Given the description of an element on the screen output the (x, y) to click on. 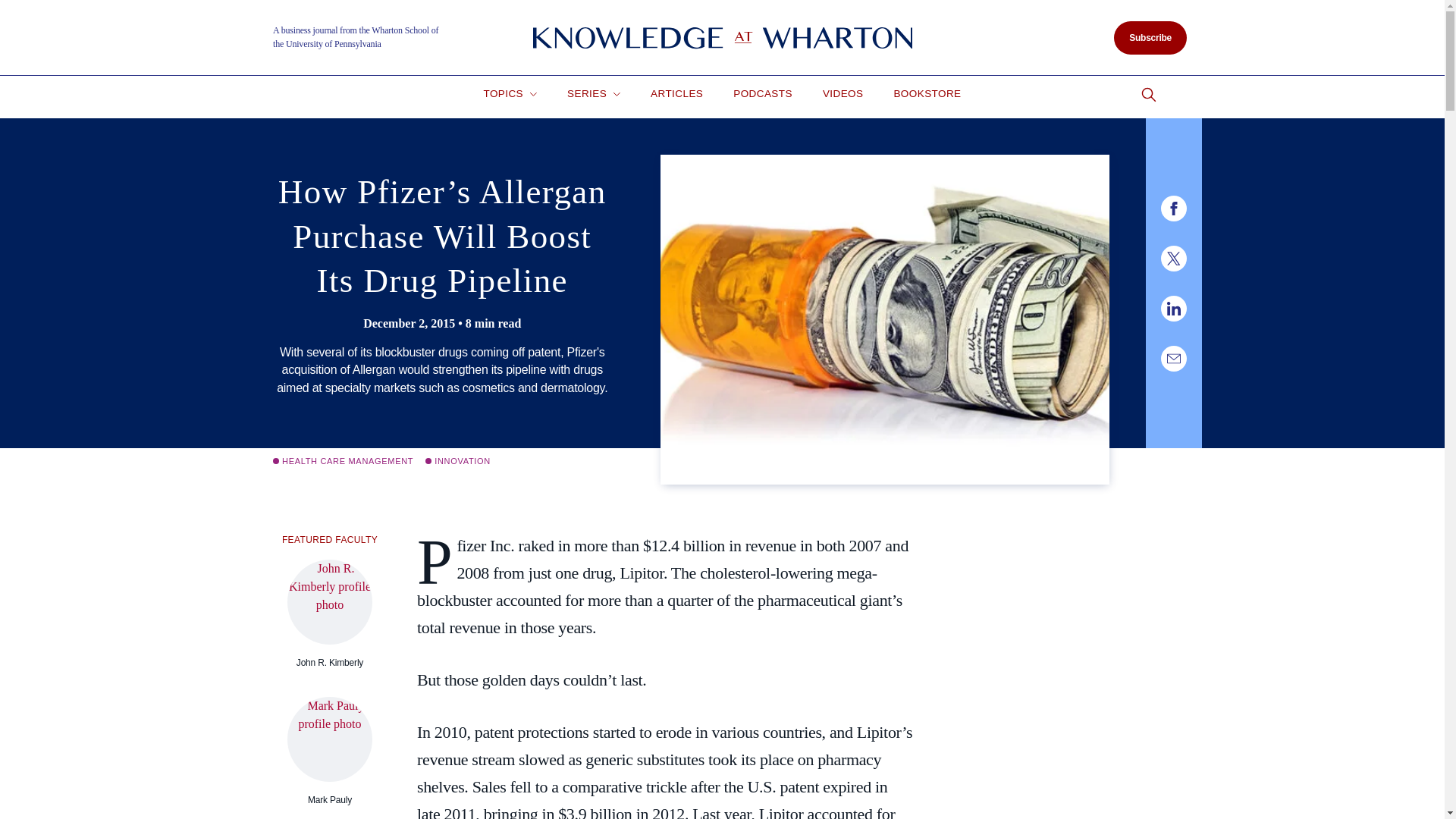
Share this page on Facebook (1173, 208)
Subscribe (1149, 37)
Go to site search (1148, 94)
Share this page on LinkedIn (1173, 308)
Knowledge at Wharton (721, 37)
Share this page on Twitter (1173, 258)
Share this page by email (1173, 358)
